Given the description of an element on the screen output the (x, y) to click on. 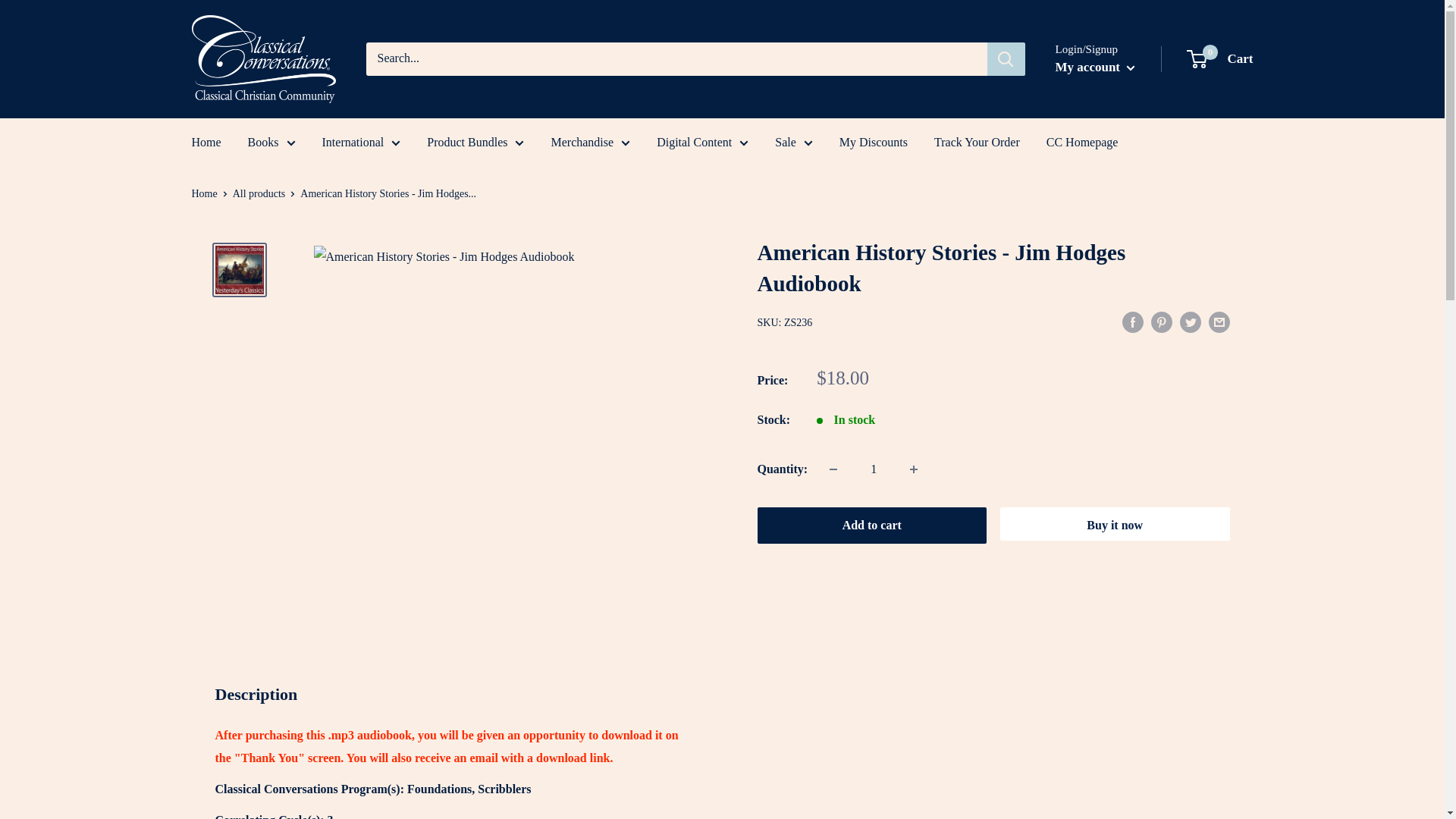
Increase quantity by 1 (914, 469)
Decrease quantity by 1 (832, 469)
1 (873, 469)
